Given the description of an element on the screen output the (x, y) to click on. 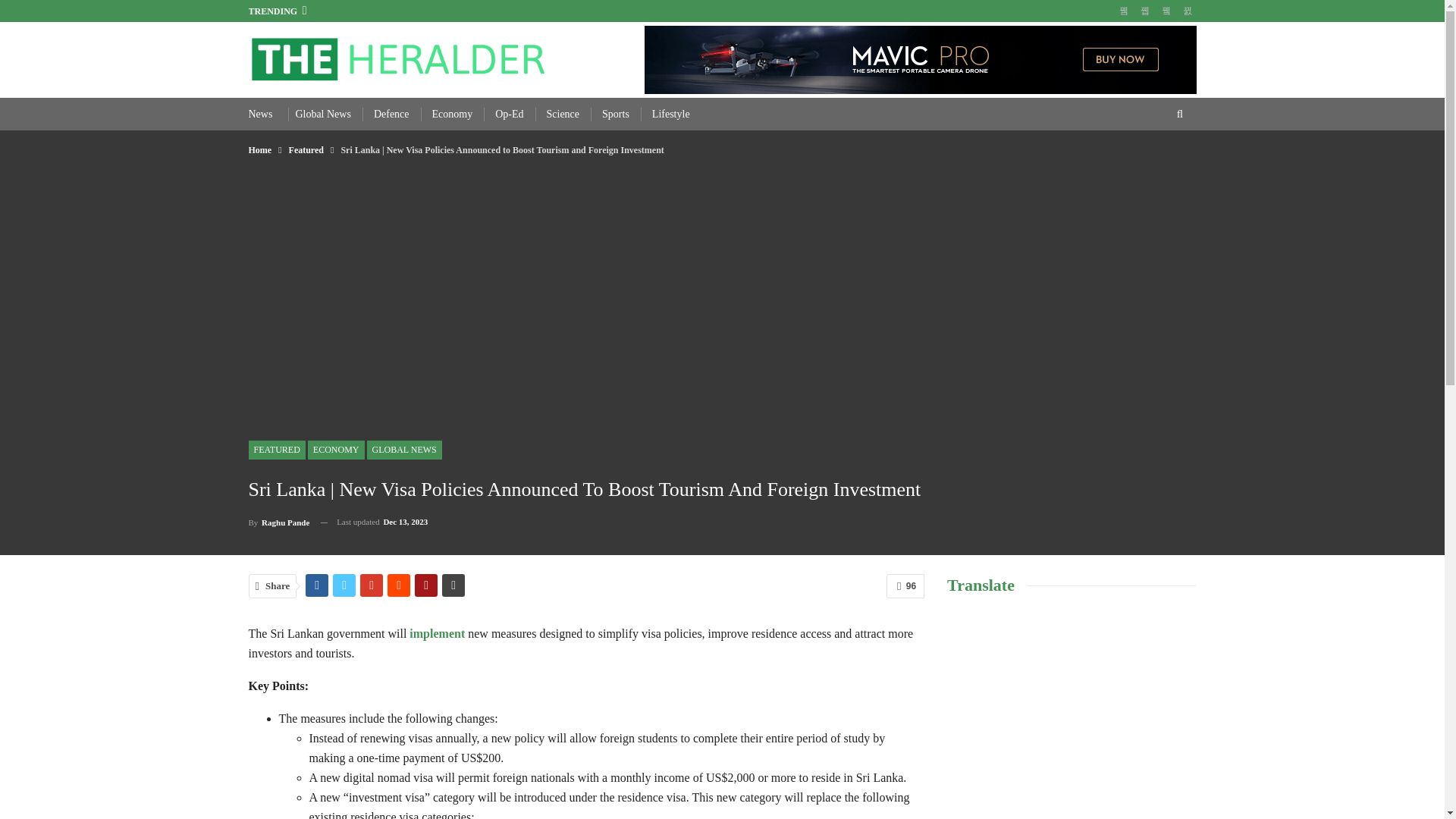
Browse Author Articles (279, 521)
Global News (322, 113)
